Given the description of an element on the screen output the (x, y) to click on. 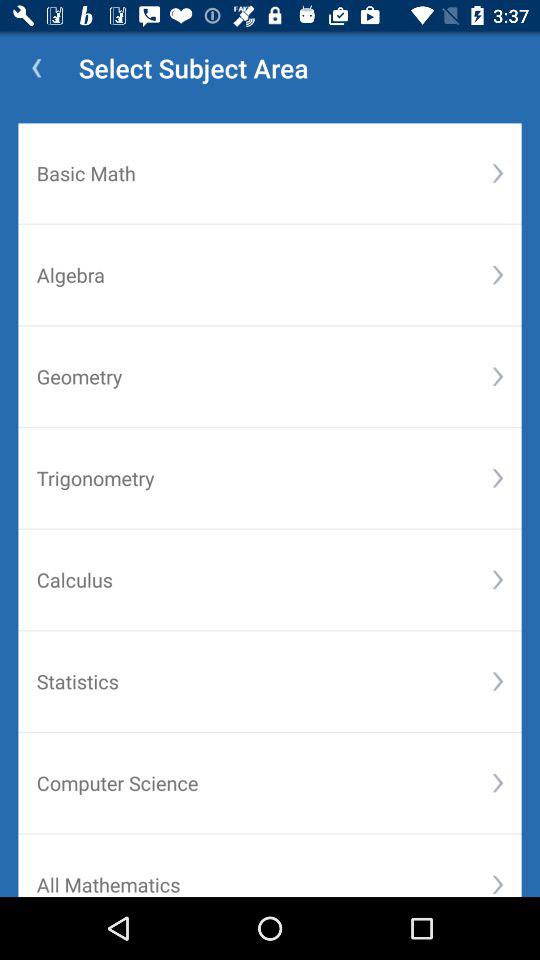
open icon above the all mathematics icon (264, 782)
